Given the description of an element on the screen output the (x, y) to click on. 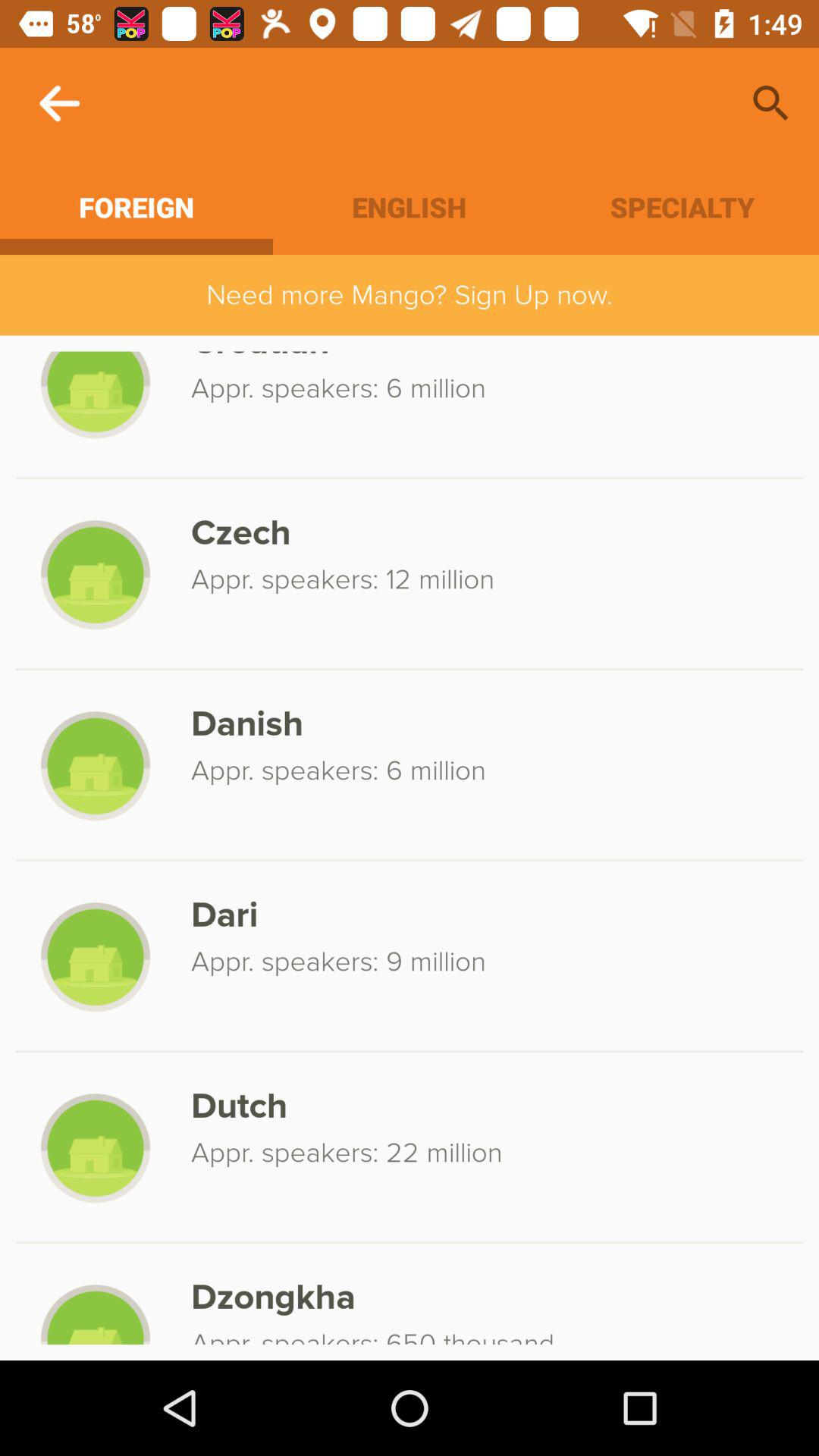
press icon above foreign icon (59, 103)
